Given the description of an element on the screen output the (x, y) to click on. 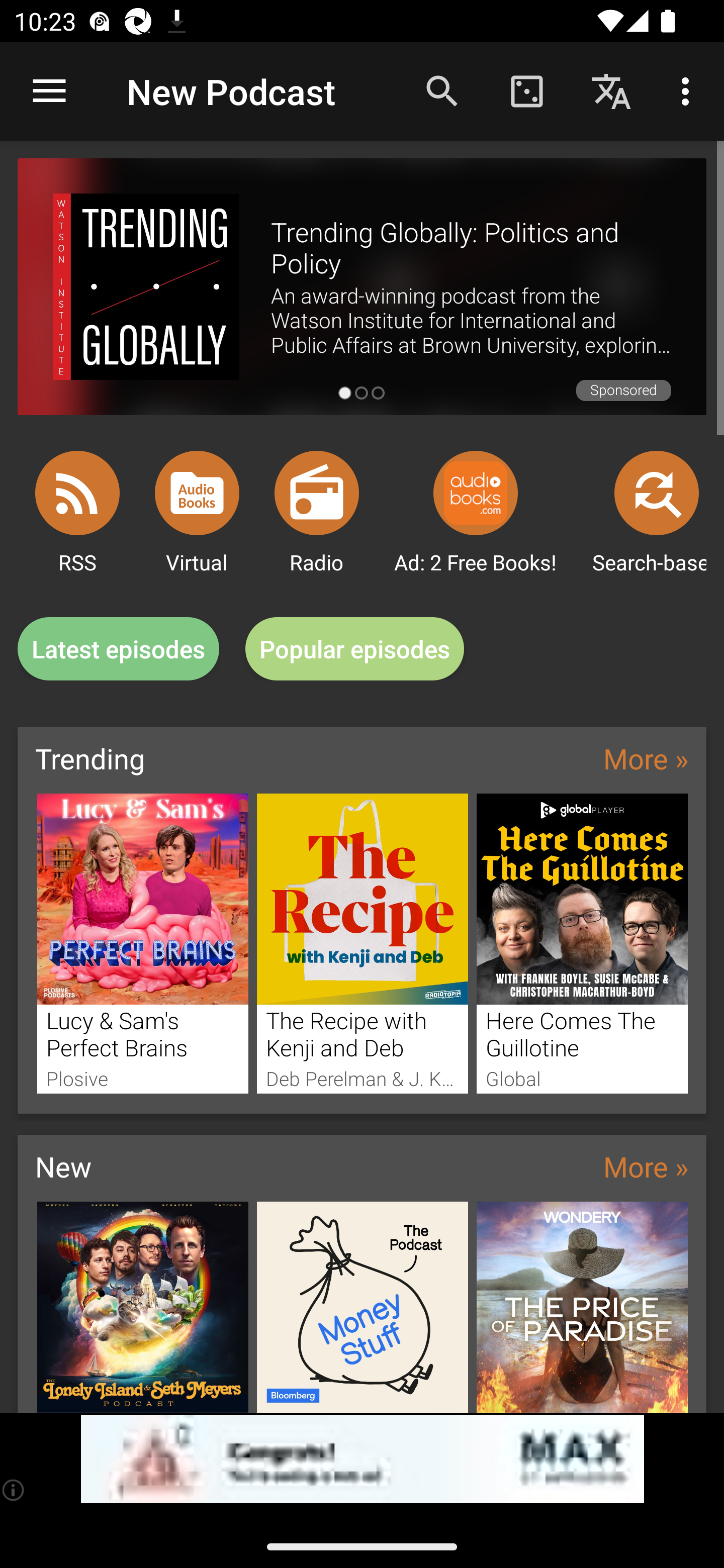
Open navigation sidebar (49, 91)
Search (442, 90)
Random pick (526, 90)
Podcast languages (611, 90)
More options (688, 90)
RSS (77, 492)
Virtual (196, 492)
Radio (316, 492)
Search-based (656, 492)
Latest episodes (118, 648)
Popular episodes (354, 648)
More » (645, 757)
Lucy & Sam's Perfect Brains Plosive (142, 942)
Here Comes The Guillotine Global (581, 942)
More » (645, 1166)
The Lonely Island and Seth Meyers Podcast (142, 1306)
Money Stuff: The Podcast (362, 1306)
The Price of Paradise (581, 1306)
app-monetization (362, 1459)
(i) (14, 1489)
